Given the description of an element on the screen output the (x, y) to click on. 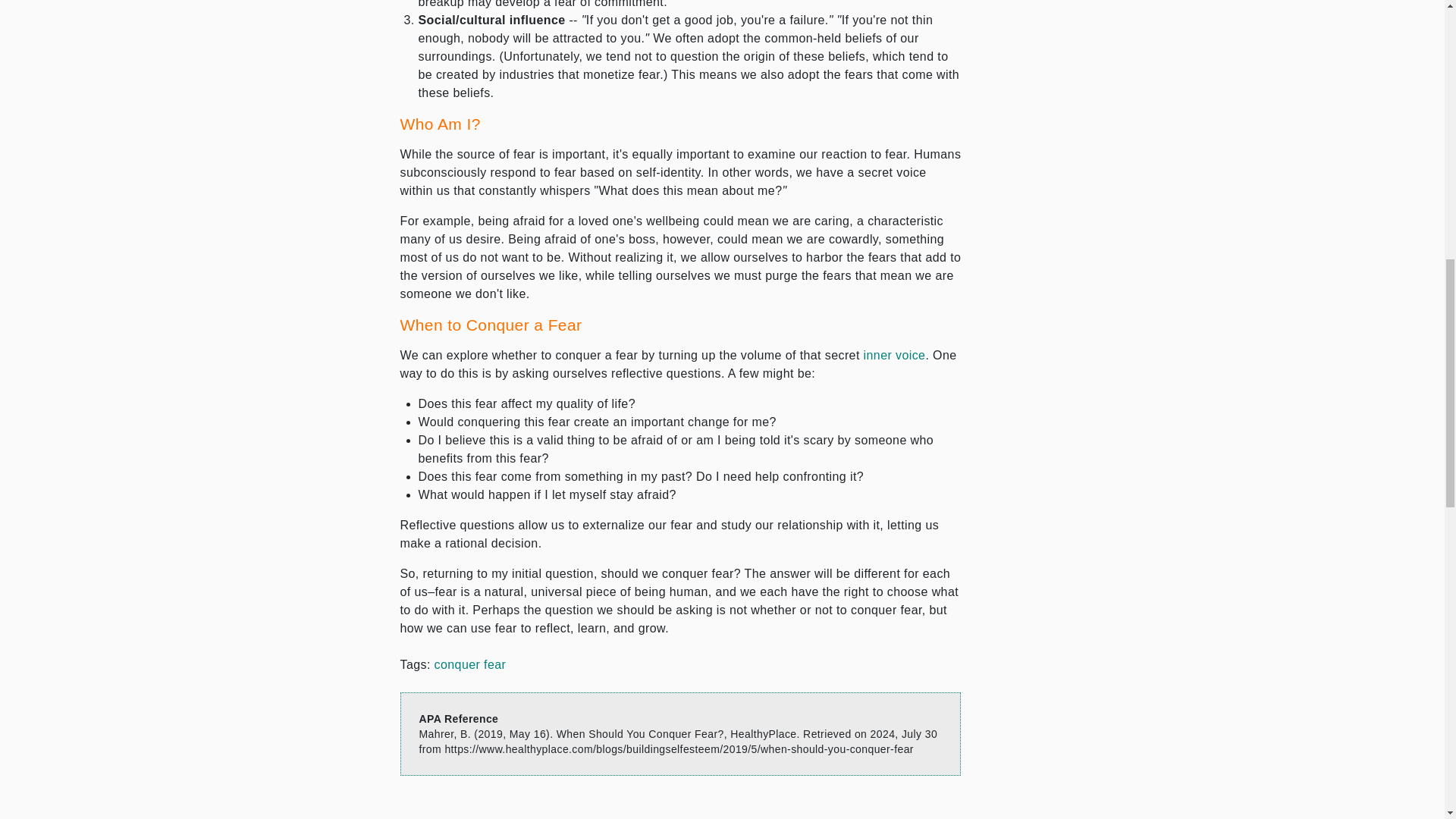
Take Control of the Inner Critic Damaging Your Self-Esteem (894, 354)
